Given the description of an element on the screen output the (x, y) to click on. 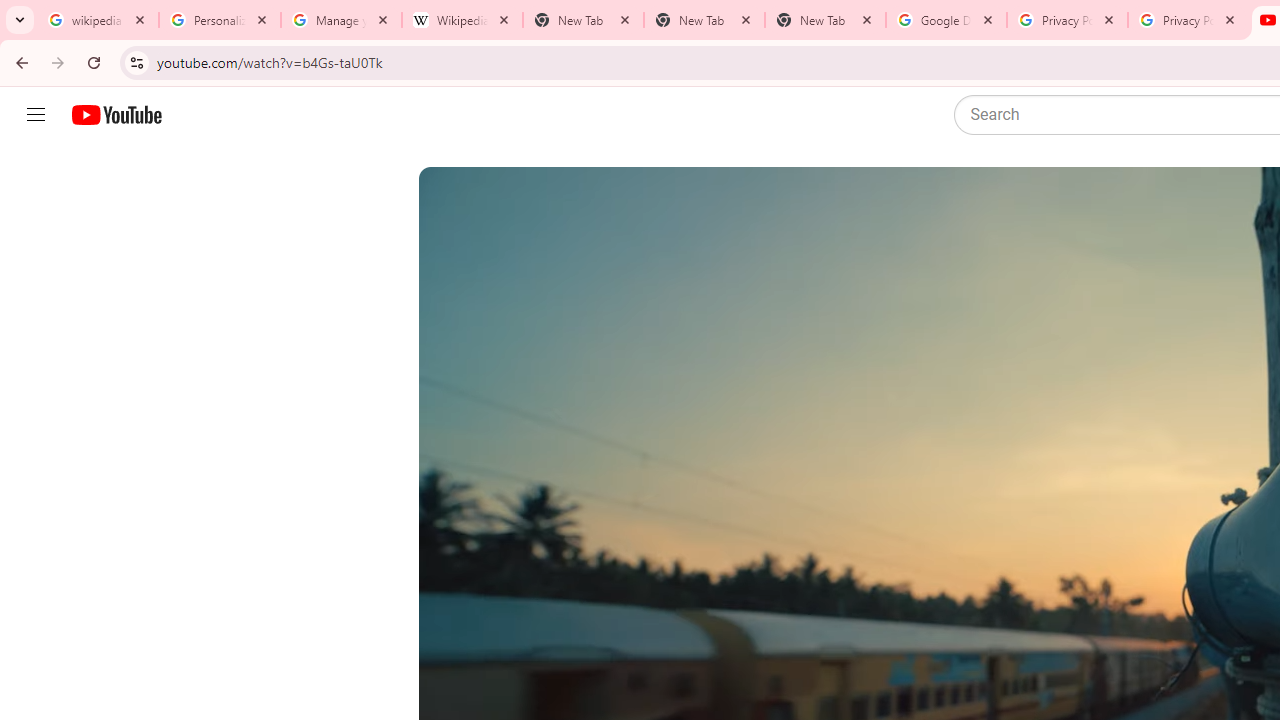
YouTube Home (116, 115)
New Tab (704, 20)
